Given the description of an element on the screen output the (x, y) to click on. 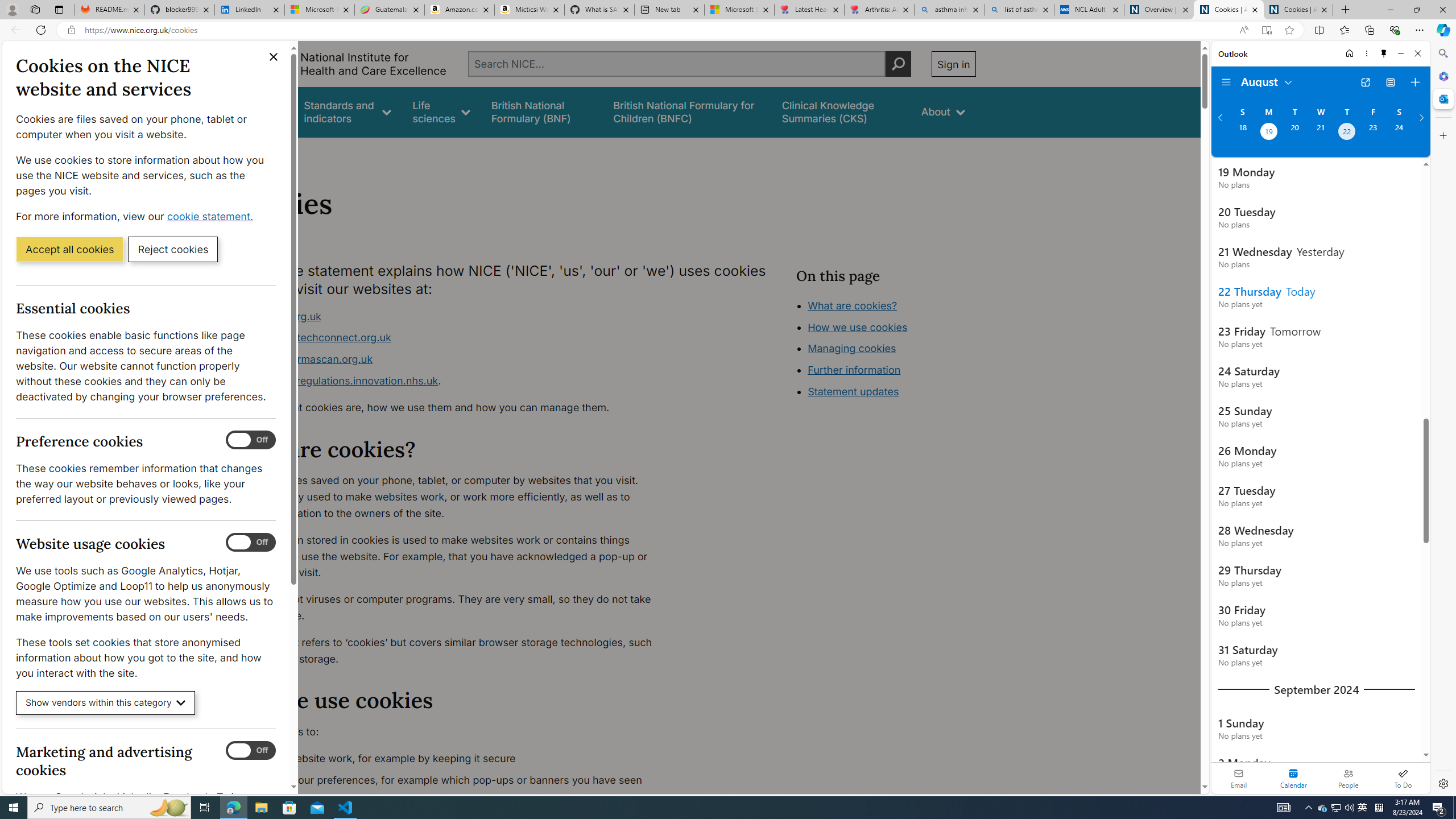
make our website work, for example by keeping it secure (452, 759)
www.digitalregulations.innovation.nhs.uk (338, 380)
NCL Adult Asthma Inhaler Choice Guideline (1088, 9)
www.healthtechconnect.org.uk (314, 337)
Thursday, August 22, 2024. Today.  (1346, 132)
asthma inhaler - Search (949, 9)
Tuesday, August 20, 2024.  (1294, 132)
Perform search (898, 63)
